Given the description of an element on the screen output the (x, y) to click on. 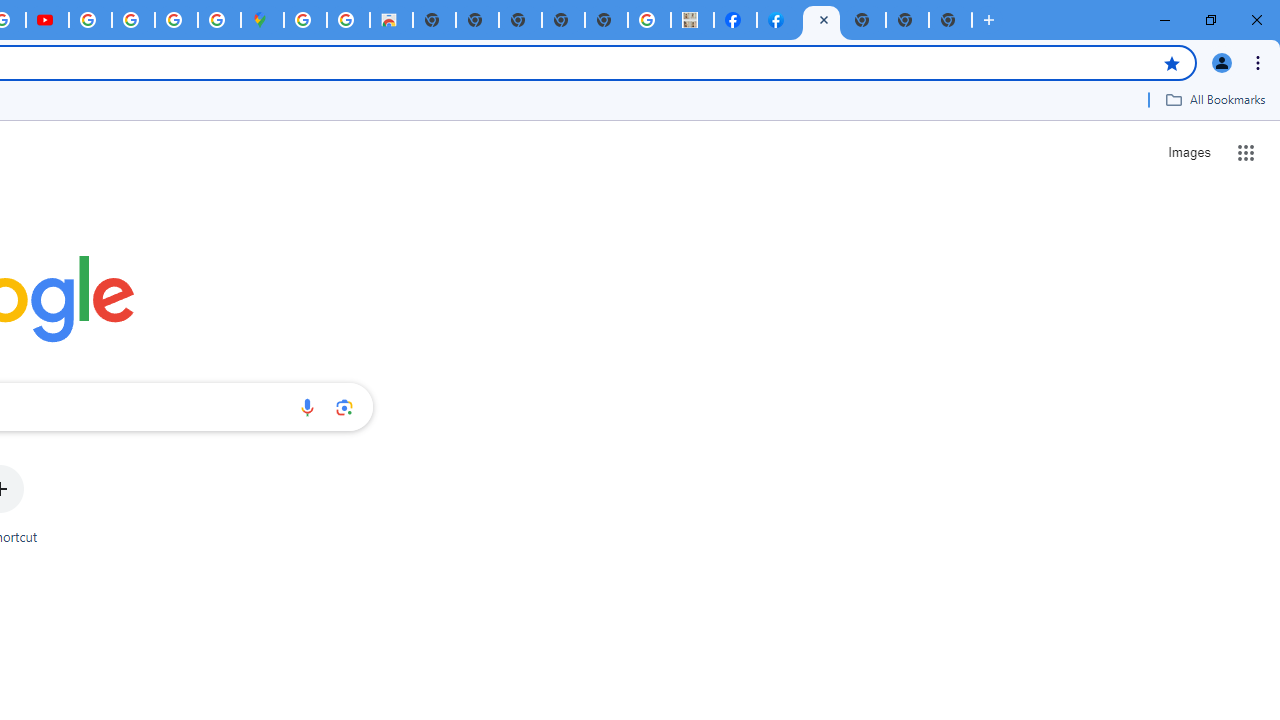
All Bookmarks (1215, 99)
MILEY CYRUS. (692, 20)
Chrome Web Store - Shopping (391, 20)
Sign Up for Facebook (777, 20)
Search for Images  (1188, 152)
How Chrome protects your passwords - Google Chrome Help (90, 20)
Subscriptions - YouTube (47, 20)
New Tab (950, 20)
